Given the description of an element on the screen output the (x, y) to click on. 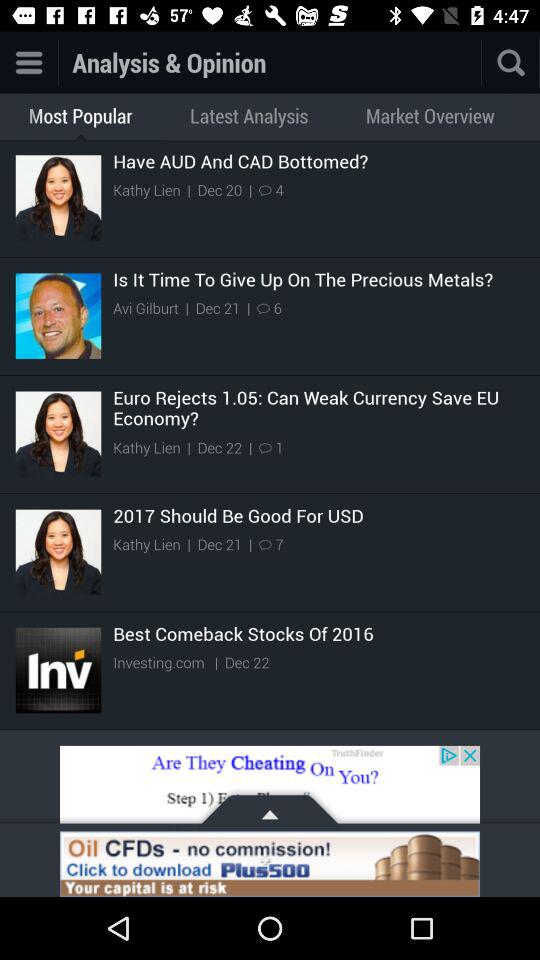
make advertisement (270, 788)
